Given the description of an element on the screen output the (x, y) to click on. 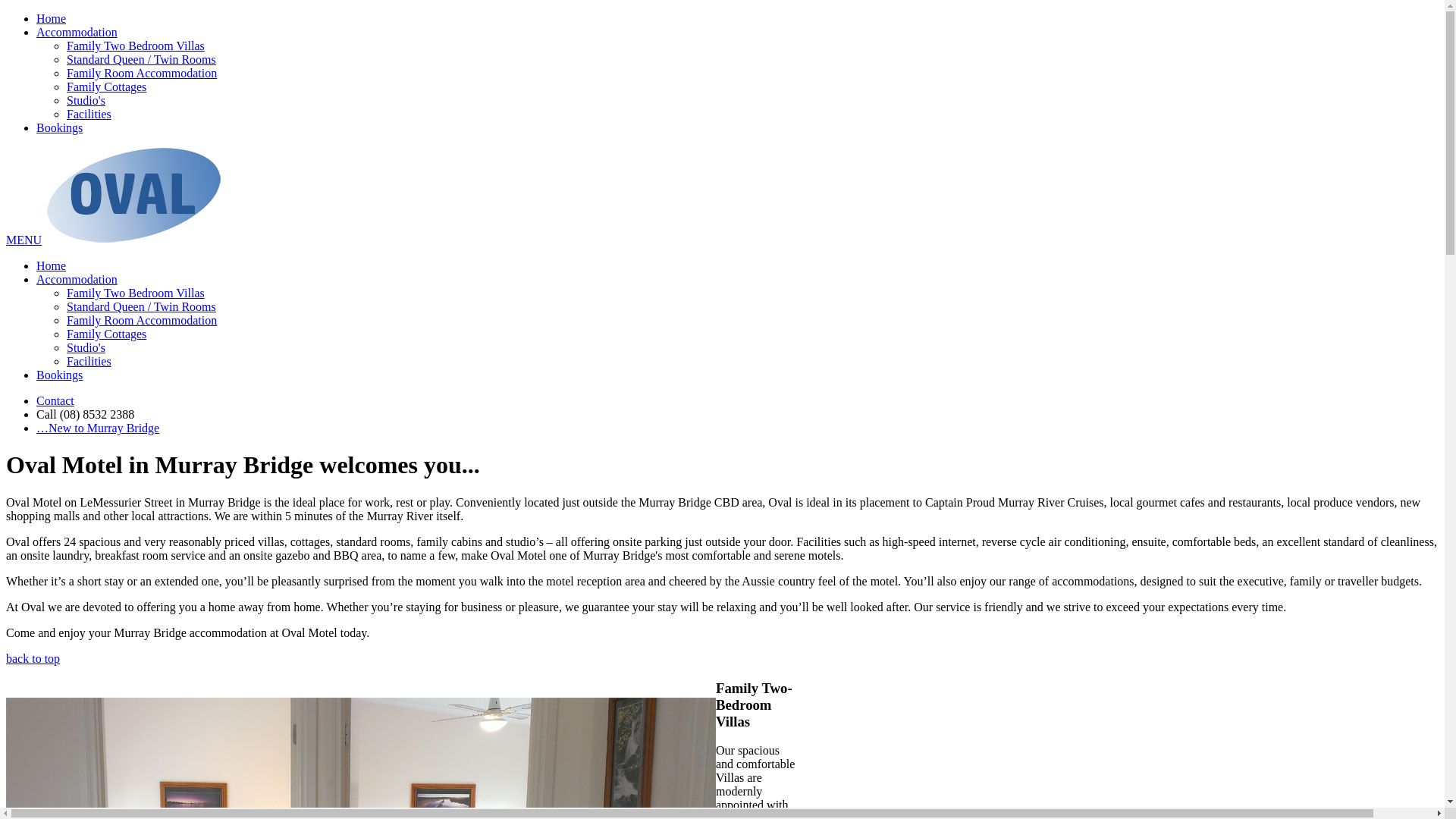
Facilities Element type: text (88, 113)
Standard Queen / Twin Rooms Element type: text (141, 59)
Bookings Element type: text (59, 374)
Family Cottages Element type: text (106, 333)
Facilities Element type: text (88, 360)
Contact Element type: text (55, 400)
Family Two Bedroom Villas Element type: text (135, 45)
MENU Element type: text (23, 239)
Studio's Element type: text (85, 347)
Standard Queen / Twin Rooms Element type: text (141, 306)
Accommodation Element type: text (76, 31)
Family Two Bedroom Villas Element type: text (135, 292)
Family Room Accommodation Element type: text (141, 319)
Bookings Element type: text (59, 127)
Accommodation Element type: text (76, 279)
Home Element type: text (50, 18)
back to top Element type: text (32, 658)
Family Cottages Element type: text (106, 86)
Home Element type: text (50, 265)
Family Room Accommodation Element type: text (141, 72)
Studio's Element type: text (85, 100)
